Given the description of an element on the screen output the (x, y) to click on. 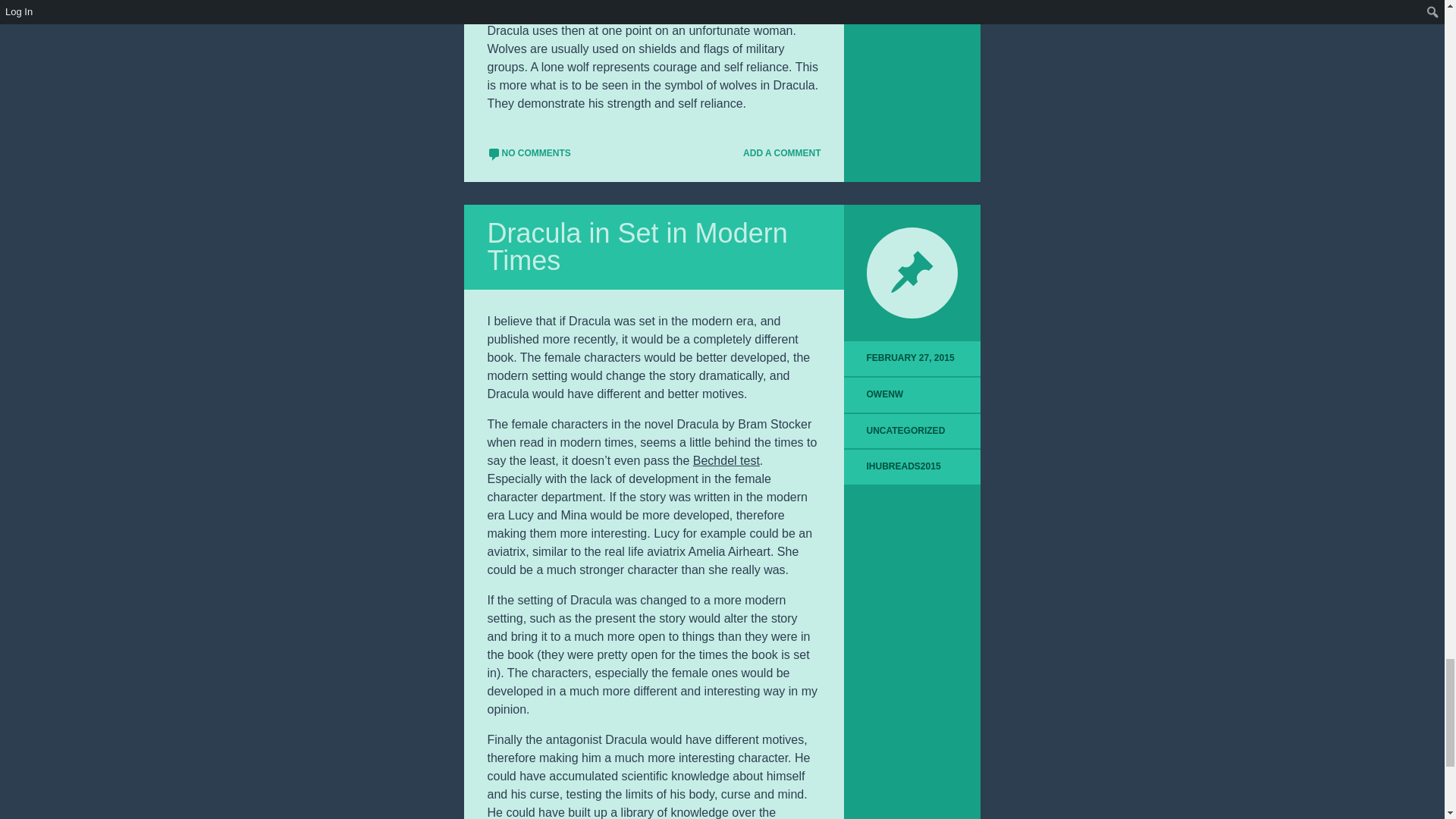
NO COMMENTS (528, 153)
ADD A COMMENT (775, 153)
View all posts by owenw (885, 394)
